Given the description of an element on the screen output the (x, y) to click on. 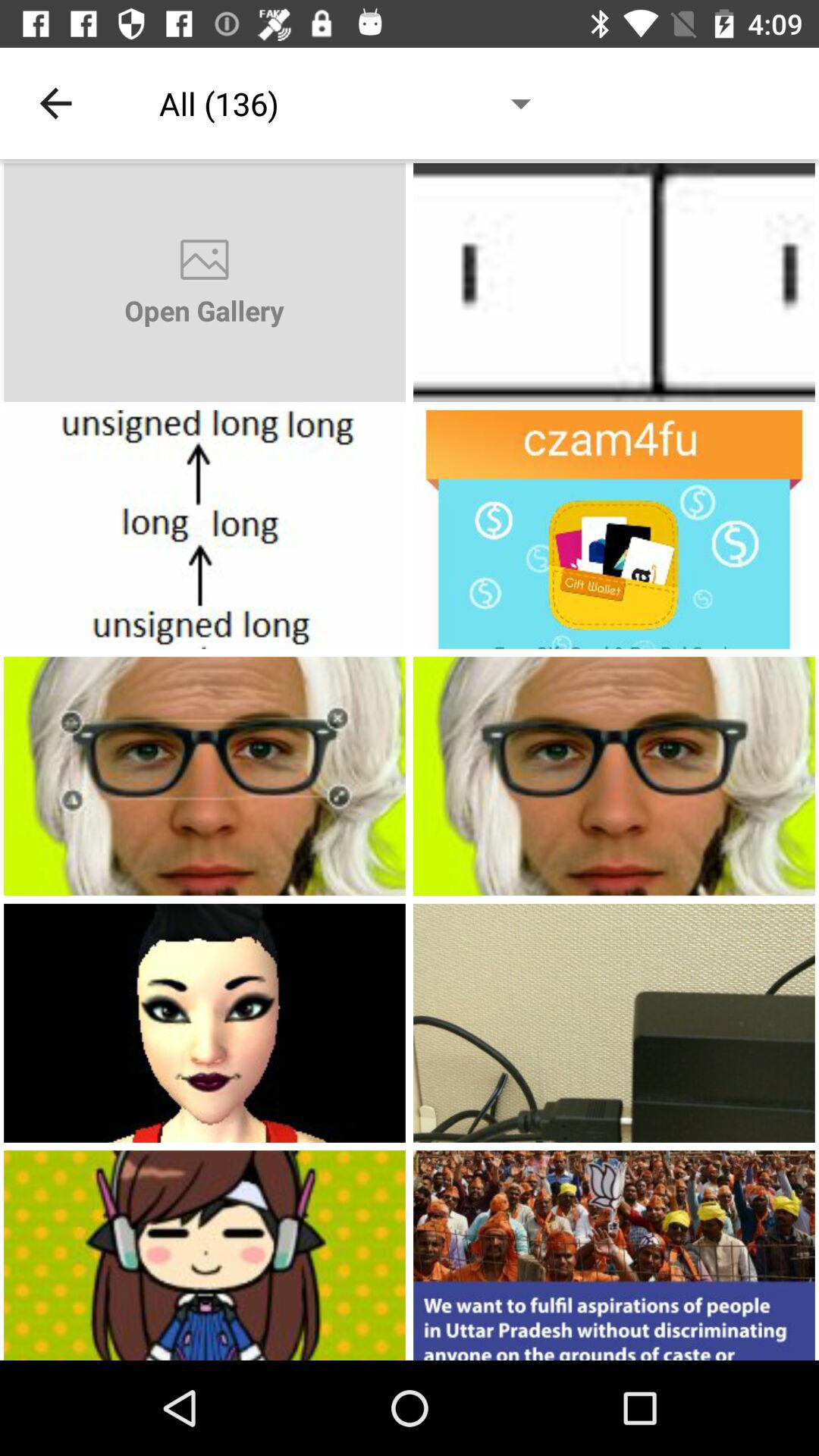
adjust glasses (204, 775)
